Given the description of an element on the screen output the (x, y) to click on. 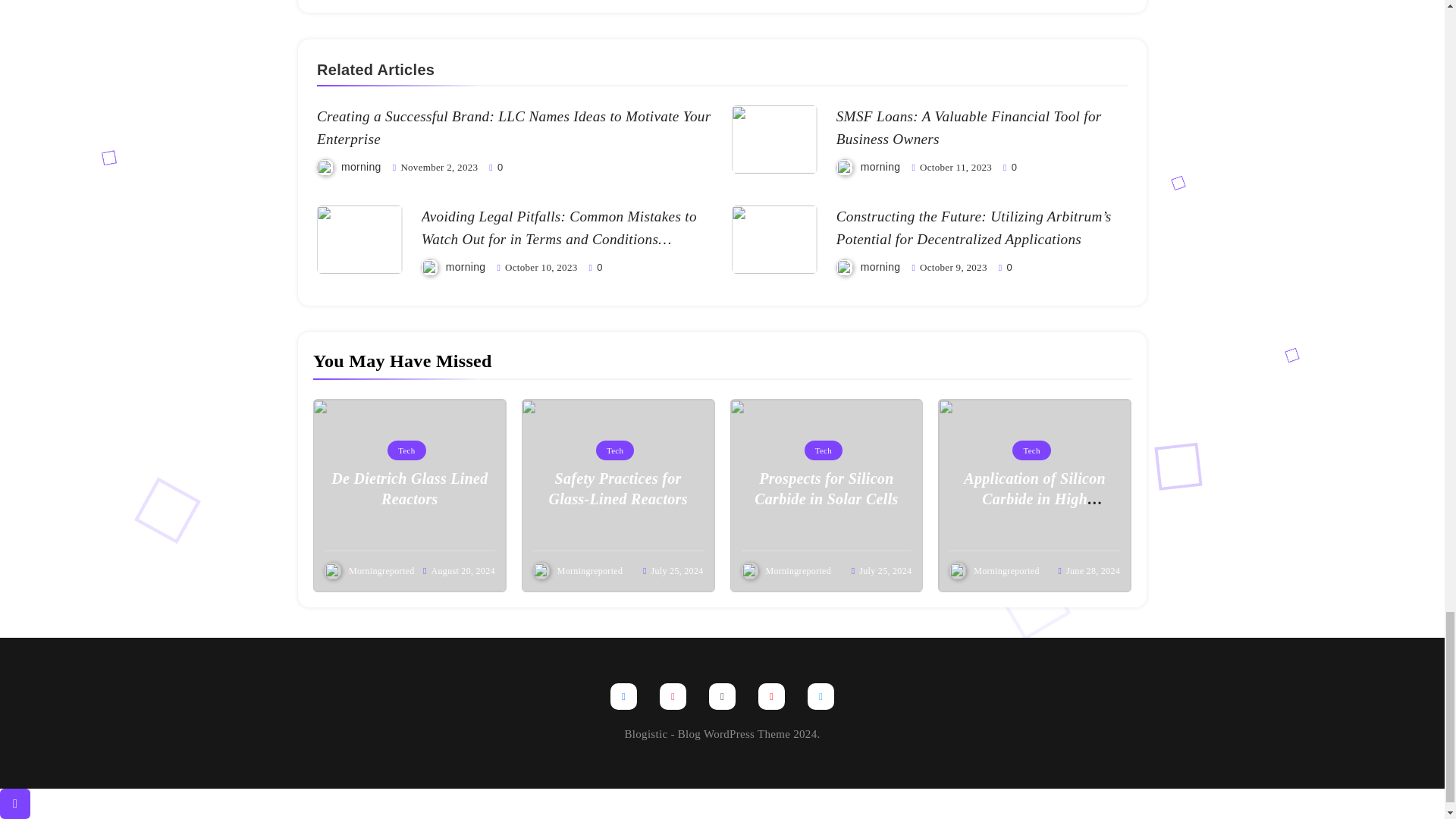
Tech (614, 450)
October 9, 2023 (953, 266)
SMSF Loans: A Valuable Financial Tool for Business Owners (968, 128)
0 (595, 266)
August 20, 2024 (462, 570)
De Dietrich Glass Lined Reactors (409, 489)
0 (1009, 166)
October 10, 2023 (540, 266)
